Given the description of an element on the screen output the (x, y) to click on. 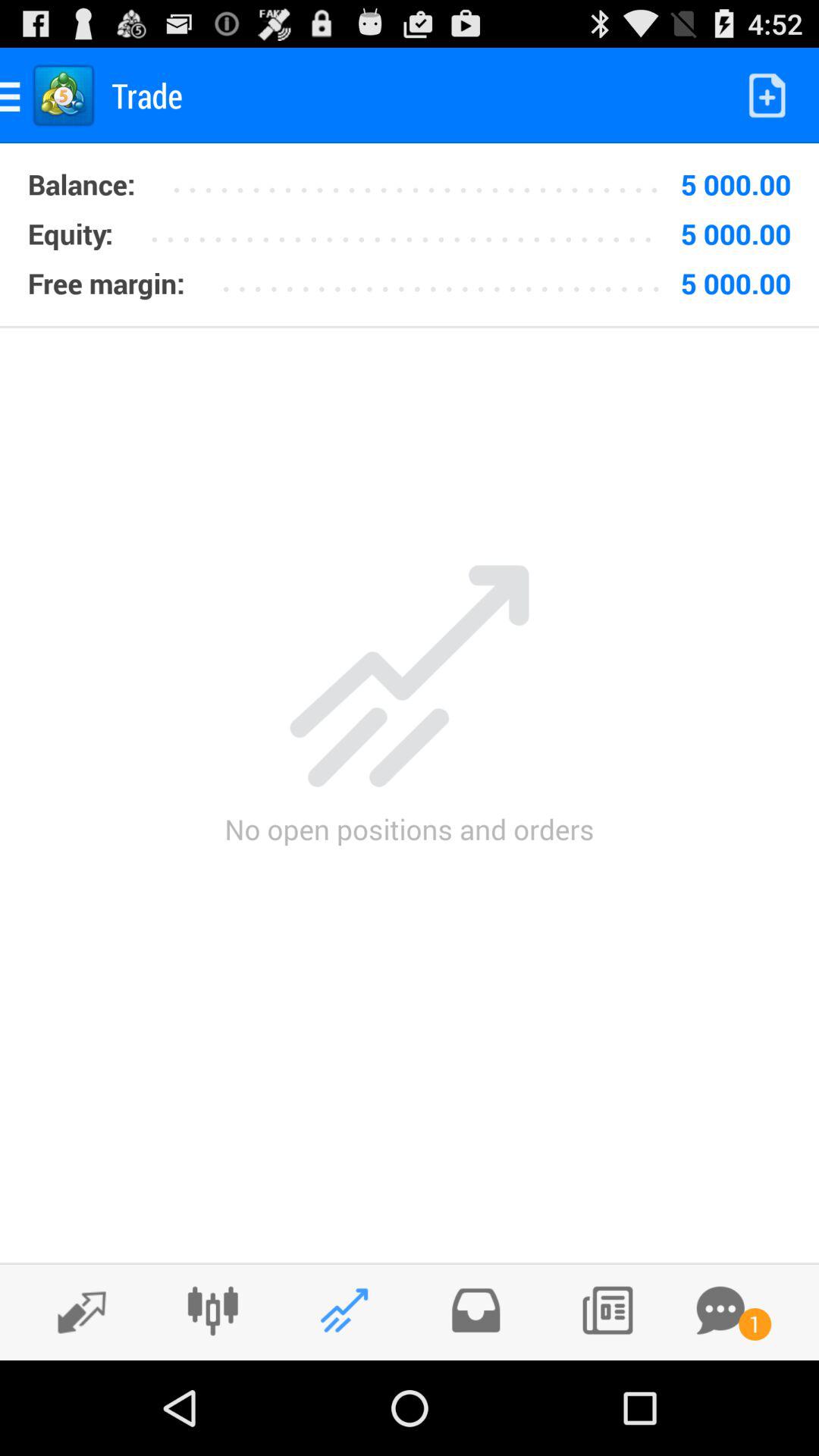
turn off the icon to the right of balance: (421, 178)
